Given the description of an element on the screen output the (x, y) to click on. 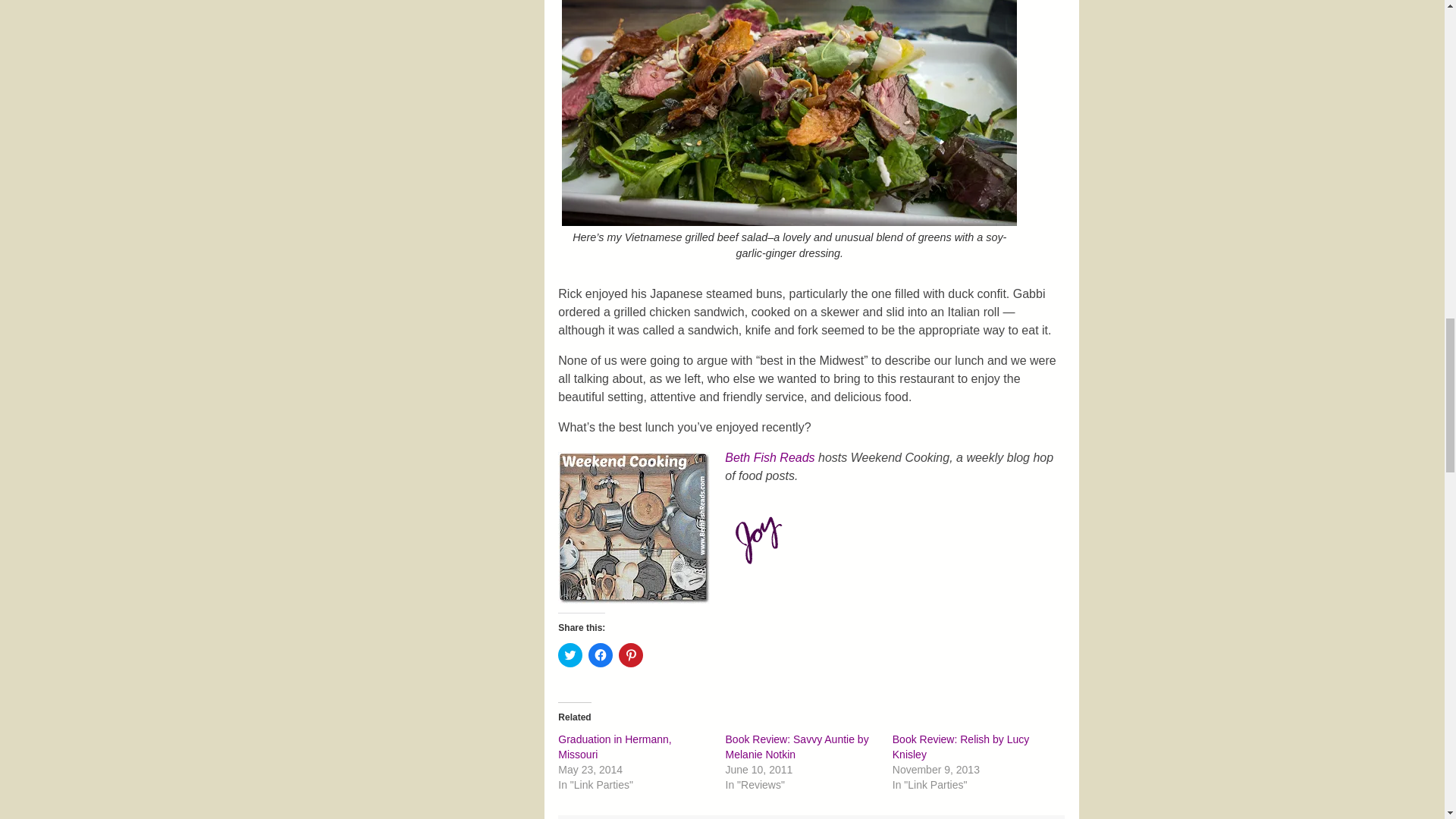
Graduation in Hermann, Missouri (614, 746)
Book Review: Relish by Lucy Knisley (960, 746)
Book Review: Relish by Lucy Knisley (960, 746)
Beth Fish Reads (769, 457)
Click to share on Facebook (600, 654)
Book Review: Savvy Auntie by Melanie Notkin (797, 746)
Click to share on Twitter (569, 654)
Click to share on Pinterest (630, 654)
Book Review: Savvy Auntie by Melanie Notkin (797, 746)
Graduation in Hermann, Missouri (614, 746)
